Given the description of an element on the screen output the (x, y) to click on. 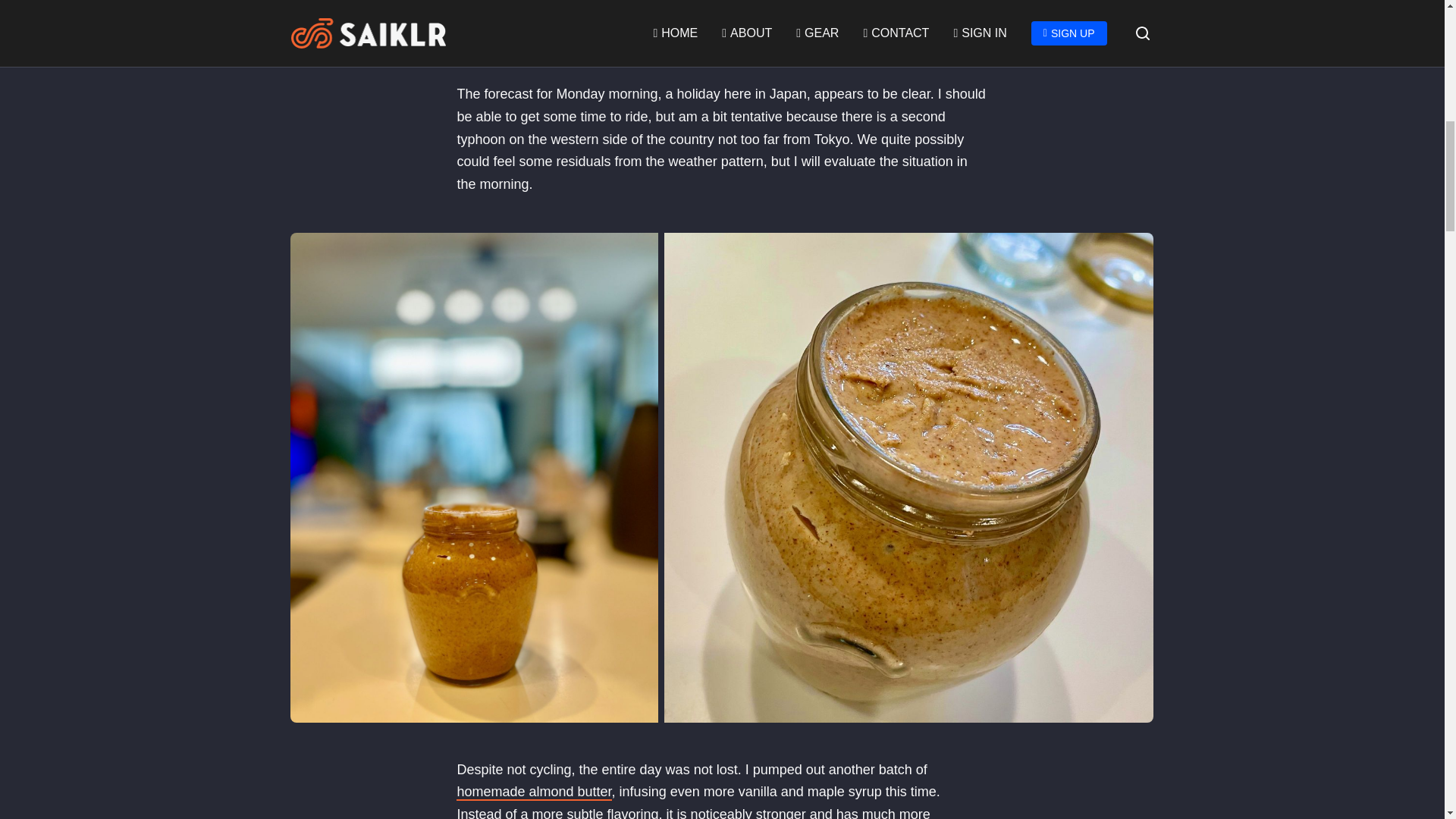
homemade almond butter (534, 791)
